Given the description of an element on the screen output the (x, y) to click on. 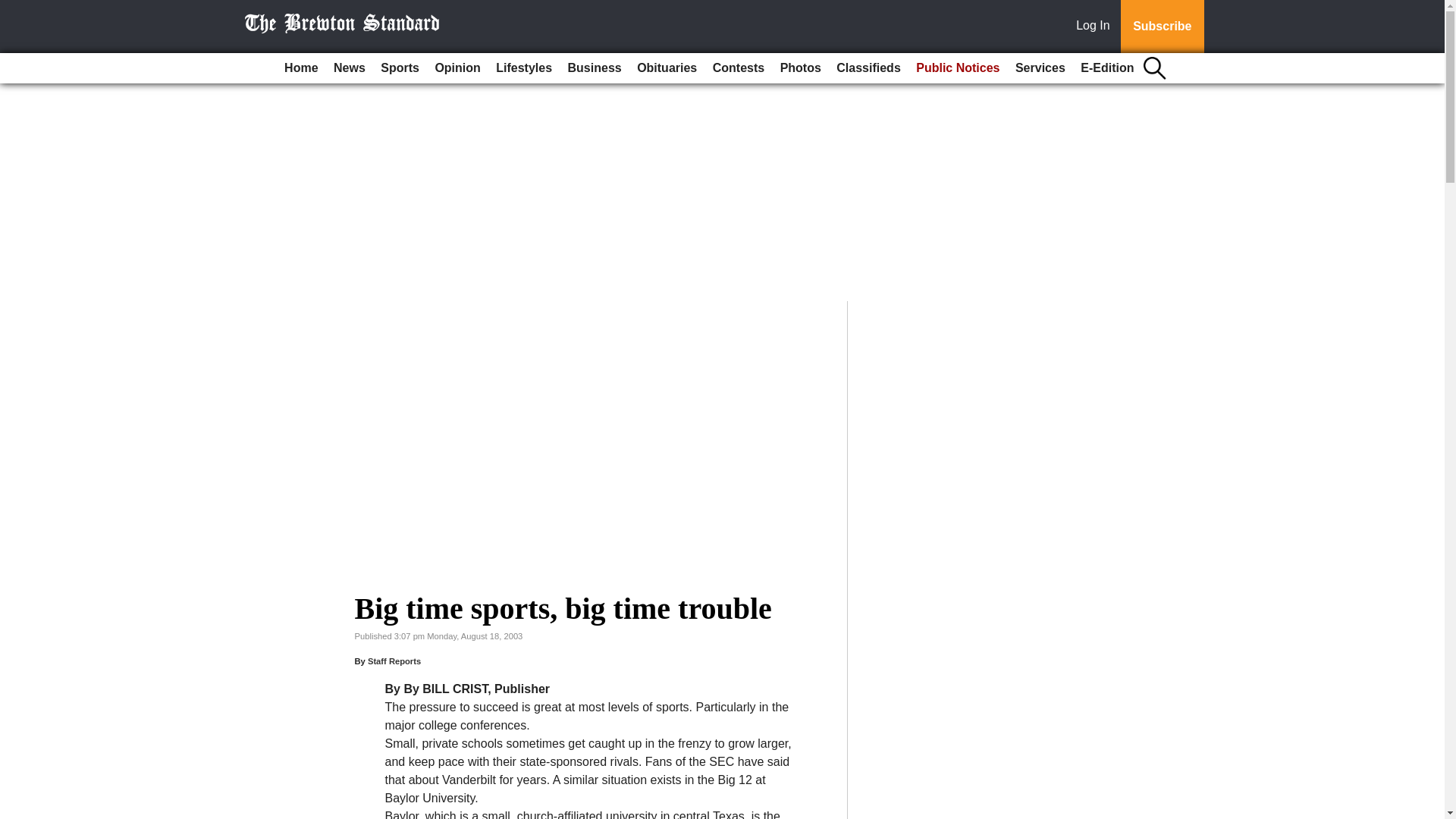
News (349, 68)
Go (13, 9)
Services (1040, 68)
Public Notices (958, 68)
Photos (800, 68)
Staff Reports (394, 660)
Contests (738, 68)
Subscribe (1162, 26)
Lifestyles (523, 68)
Opinion (457, 68)
Obituaries (666, 68)
E-Edition (1107, 68)
Home (300, 68)
Sports (399, 68)
Log In (1095, 26)
